Given the description of an element on the screen output the (x, y) to click on. 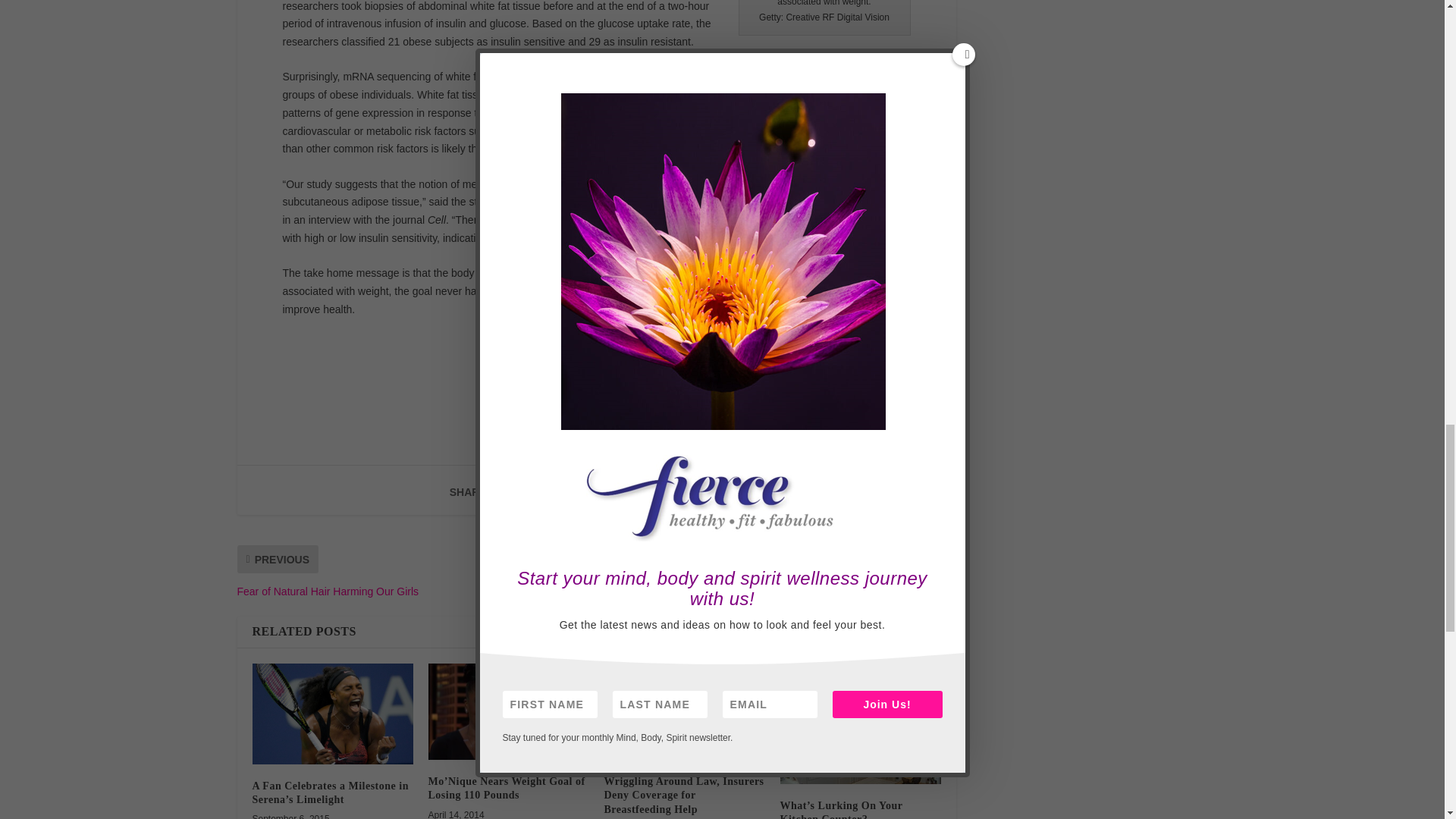
Share "Can You Really Be Overweight and Healthy?" via Tumblr (606, 491)
Share "Can You Really Be Overweight and Healthy?" via Email (697, 491)
Share "Can You Really Be Overweight and Healthy?" via Print (727, 491)
